Given the description of an element on the screen output the (x, y) to click on. 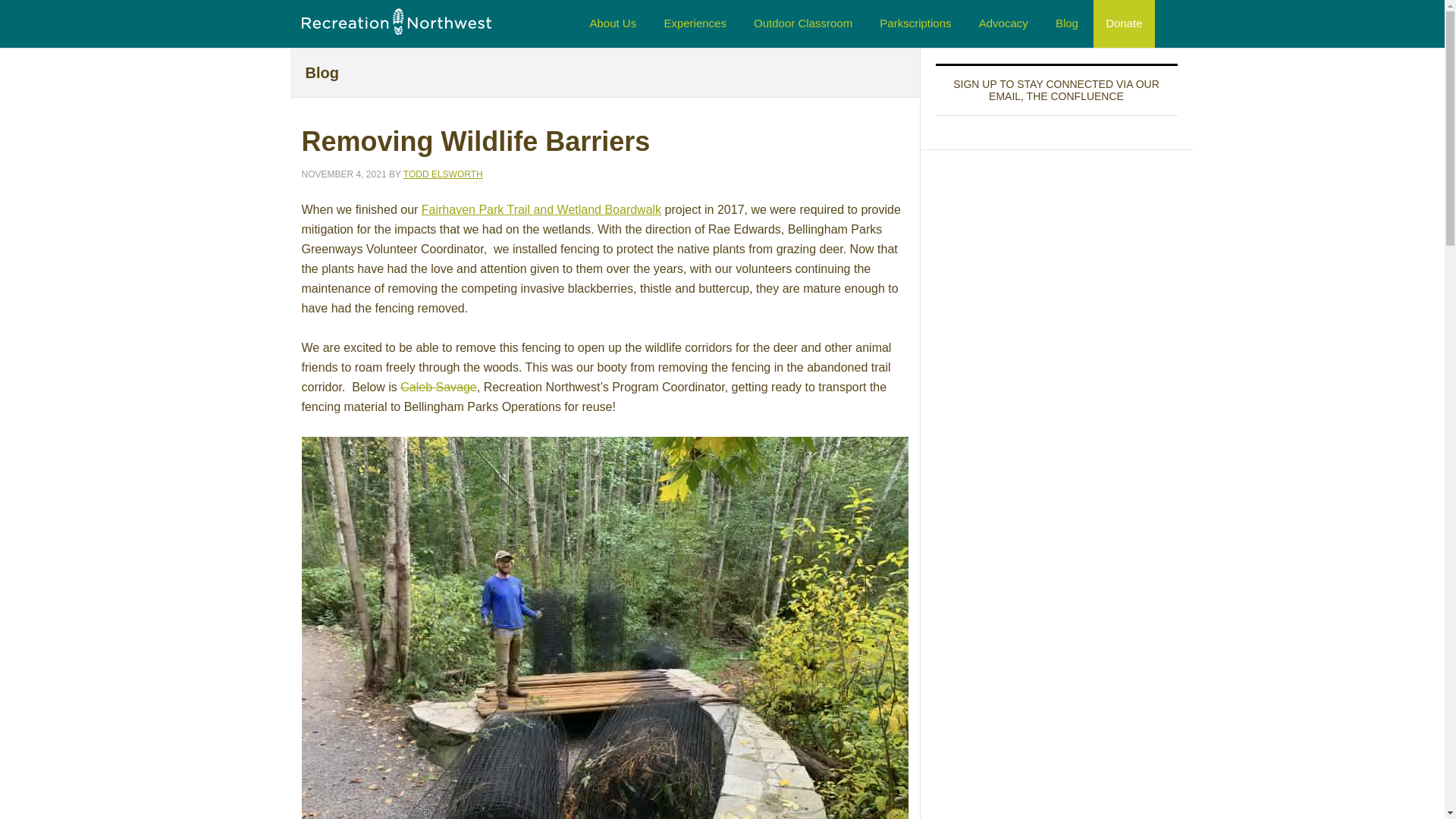
Donate (1123, 23)
Caleb Savage (438, 386)
Experiences (694, 23)
Advocacy (1003, 23)
Parkscriptions (914, 23)
Fairhaven Park Trail and Wetland Boardwalk (541, 209)
TODD ELSWORTH (443, 173)
Blog (1066, 23)
About Us (613, 23)
Outdoor Classroom (802, 23)
Recreation Northwest (396, 19)
